Given the description of an element on the screen output the (x, y) to click on. 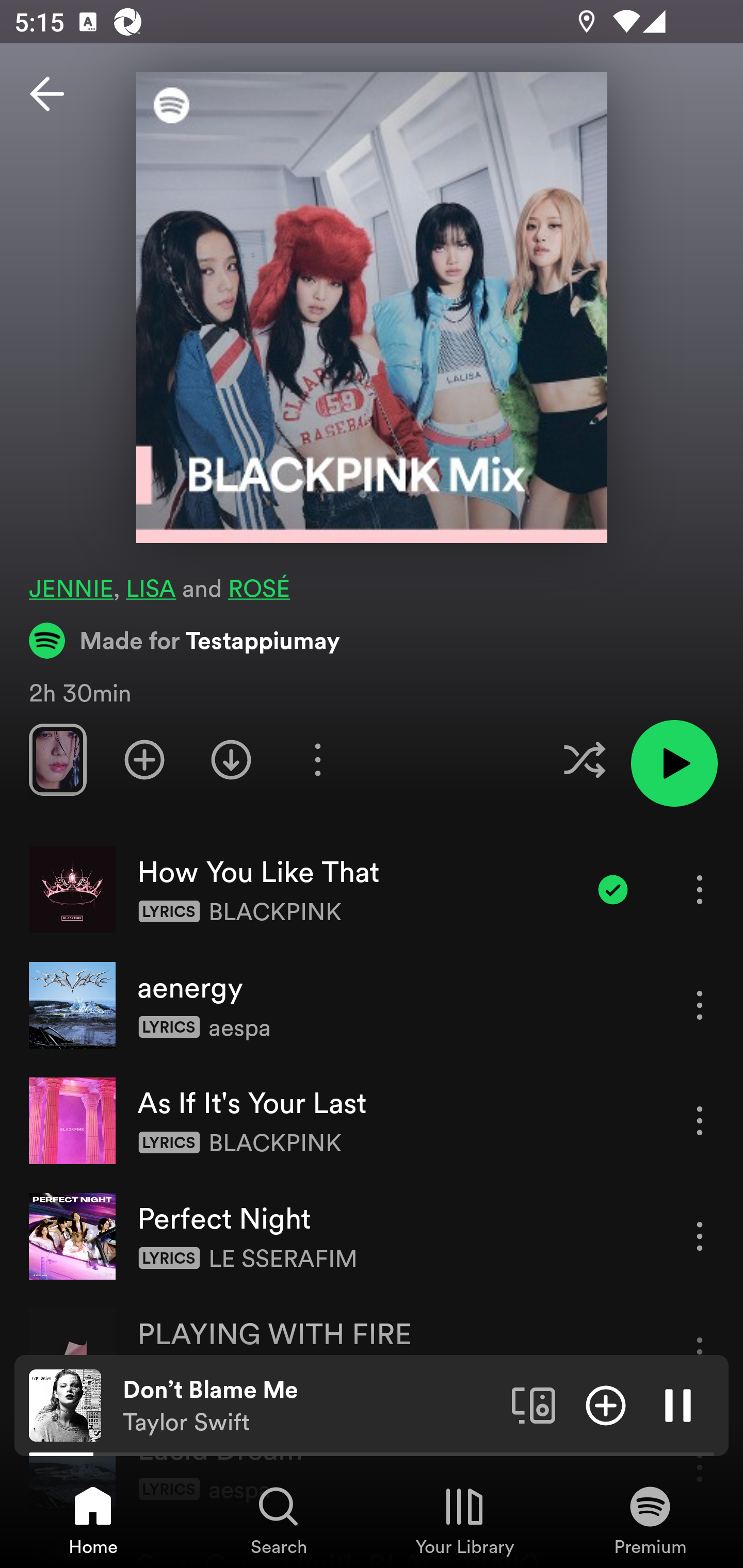
Back (46, 93)
Made for Testappiumay (184, 640)
Add playlist to Your Library (144, 759)
Download (230, 759)
More options for playlist BLACKPINK Mix (317, 759)
Enable shuffle for this playlist (583, 759)
Play playlist (674, 763)
Item added (612, 889)
More options for song How You Like That (699, 889)
aenergy More options for song aenergy Lyrics aespa (371, 1005)
More options for song aenergy (699, 1004)
More options for song As If It's Your Last (699, 1120)
More options for song Perfect Night (699, 1236)
Don’t Blame Me Taylor Swift (309, 1405)
The cover art of the currently playing track (64, 1404)
Connect to a device. Opens the devices menu (533, 1404)
Add item (605, 1404)
Pause (677, 1404)
Home, Tab 1 of 4 Home Home (92, 1519)
Search, Tab 2 of 4 Search Search (278, 1519)
Your Library, Tab 3 of 4 Your Library Your Library (464, 1519)
Premium, Tab 4 of 4 Premium Premium (650, 1519)
